Given the description of an element on the screen output the (x, y) to click on. 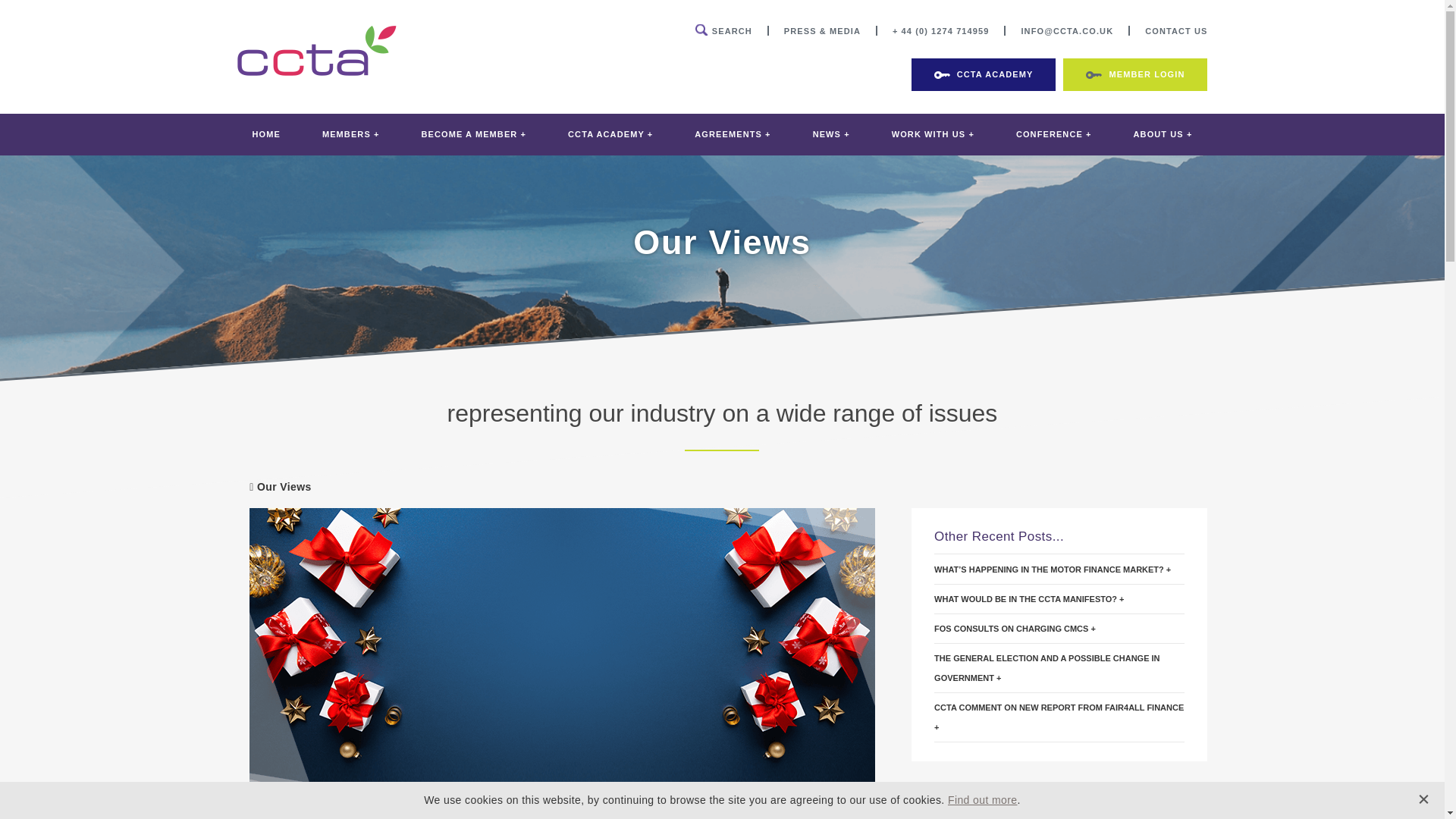
HOME (265, 134)
CCTA ACADEMY (984, 74)
MEMBER LOGIN (1134, 74)
SEARCH (723, 30)
CCTA (316, 71)
CONTACT US (1175, 31)
